Given the description of an element on the screen output the (x, y) to click on. 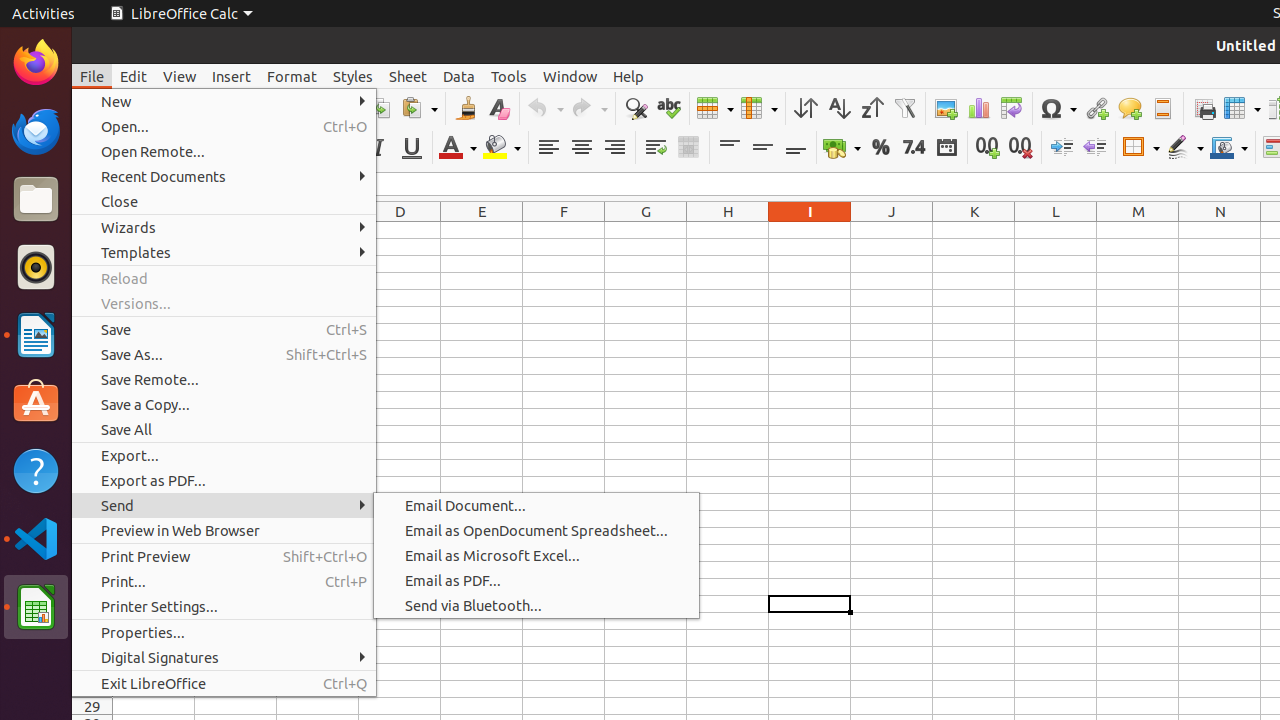
Sort Descending Element type: push-button (871, 108)
Align Bottom Element type: push-button (795, 147)
Align Center Element type: push-button (581, 147)
Send via Bluetooth... Element type: menu-item (536, 605)
Recent Documents Element type: menu (224, 176)
